Given the description of an element on the screen output the (x, y) to click on. 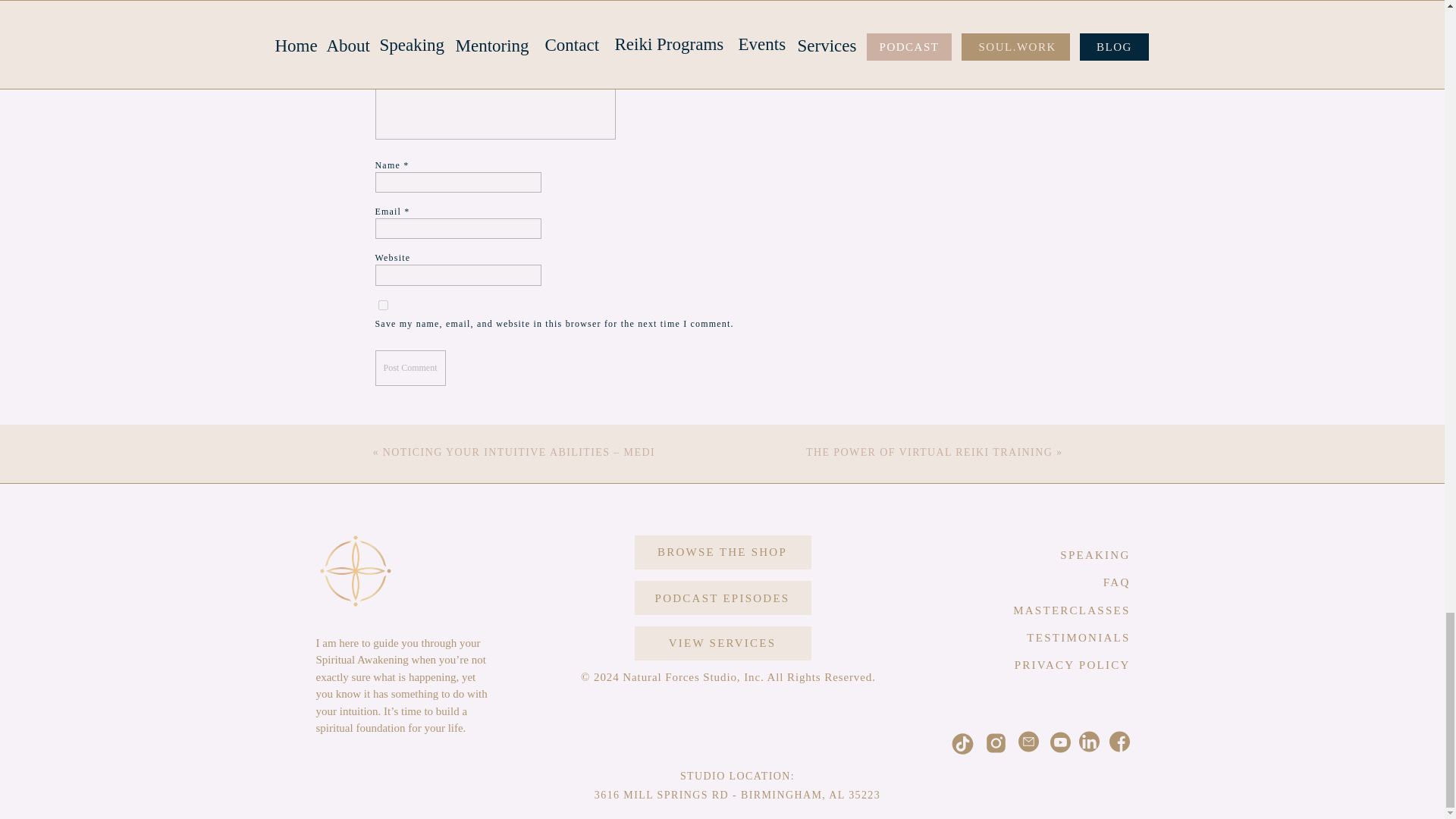
THE POWER OF VIRTUAL REIKI TRAINING (929, 451)
Post Comment (409, 367)
yes (382, 305)
Post Comment (409, 367)
